Given the description of an element on the screen output the (x, y) to click on. 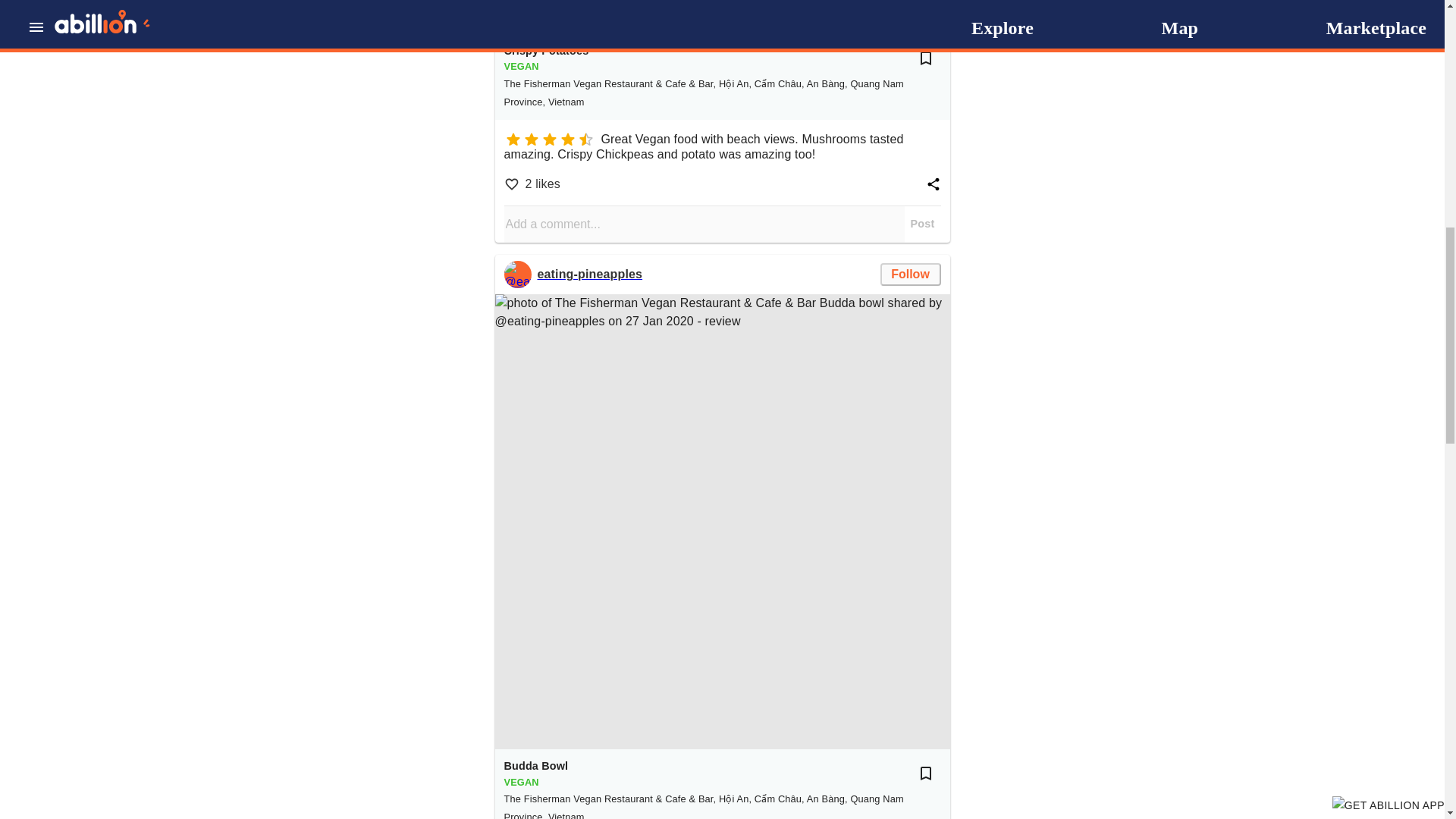
Crispy Potatoes (545, 51)
eating-pineapples (517, 274)
review (722, 17)
Budda Bowl (535, 766)
eating-pineapples (589, 274)
Follow (909, 273)
